Given the description of an element on the screen output the (x, y) to click on. 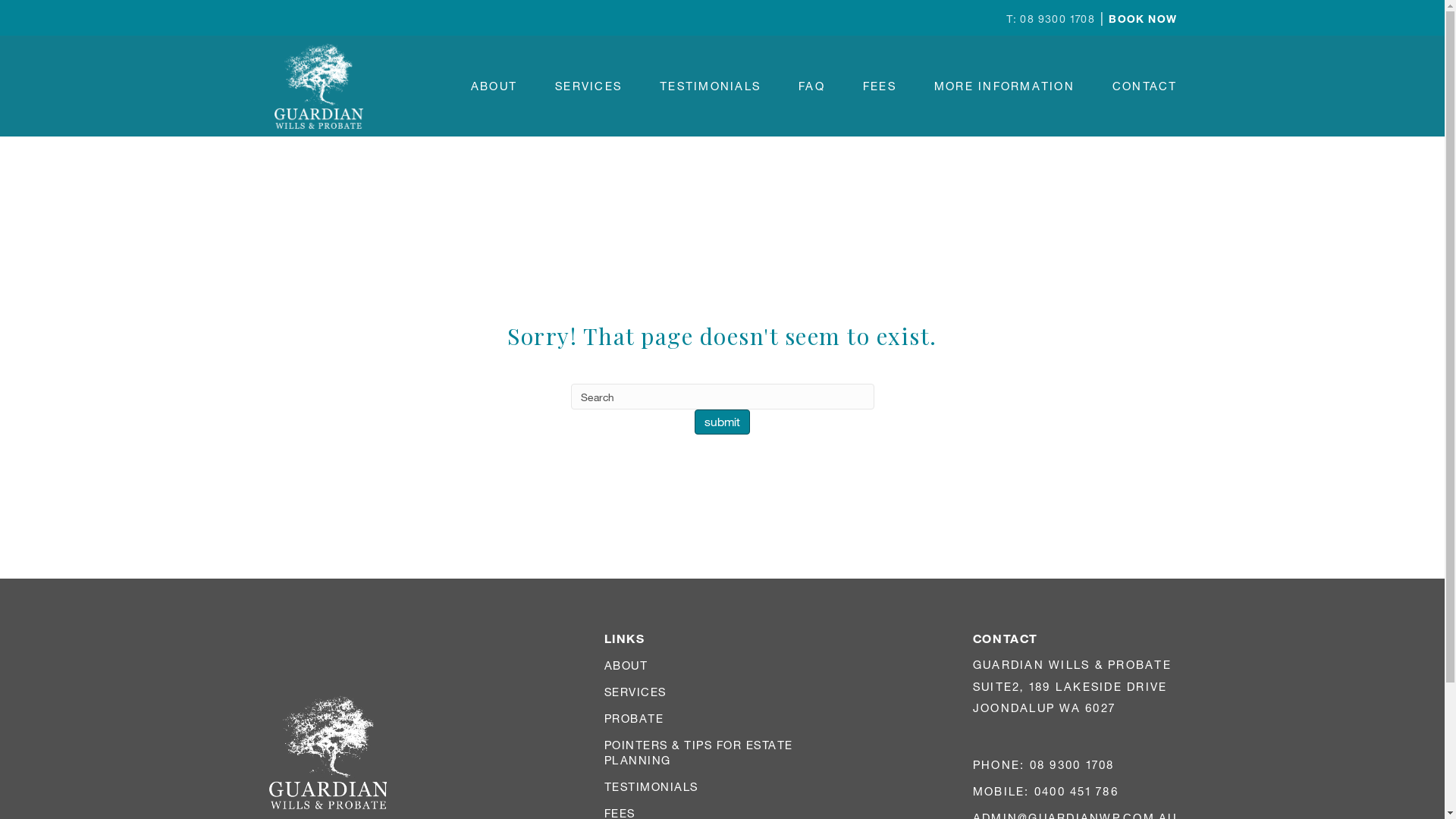
submit Element type: text (721, 421)
ABOUT Element type: text (493, 85)
TESTIMONIALS Element type: text (650, 785)
T: 08 9300 1708 Element type: text (1050, 18)
Type and press Enter to search. Element type: hover (721, 408)
FEES Element type: text (879, 85)
FAQ Element type: text (811, 85)
TESTIMONIALS Element type: text (709, 85)
ABOUT Element type: text (625, 664)
MORE INFORMATION Element type: text (1004, 85)
CONTACT Element type: text (1144, 85)
POINTERS & TIPS FOR ESTATE PLANNING Element type: text (697, 752)
SERVICES Element type: text (634, 691)
0400 451 786 Element type: text (1076, 790)
SERVICES Element type: text (588, 85)
08 9300 1708 Element type: text (1071, 763)
BOOK NOW Element type: text (1141, 18)
PROBATE Element type: text (633, 717)
